Given the description of an element on the screen output the (x, y) to click on. 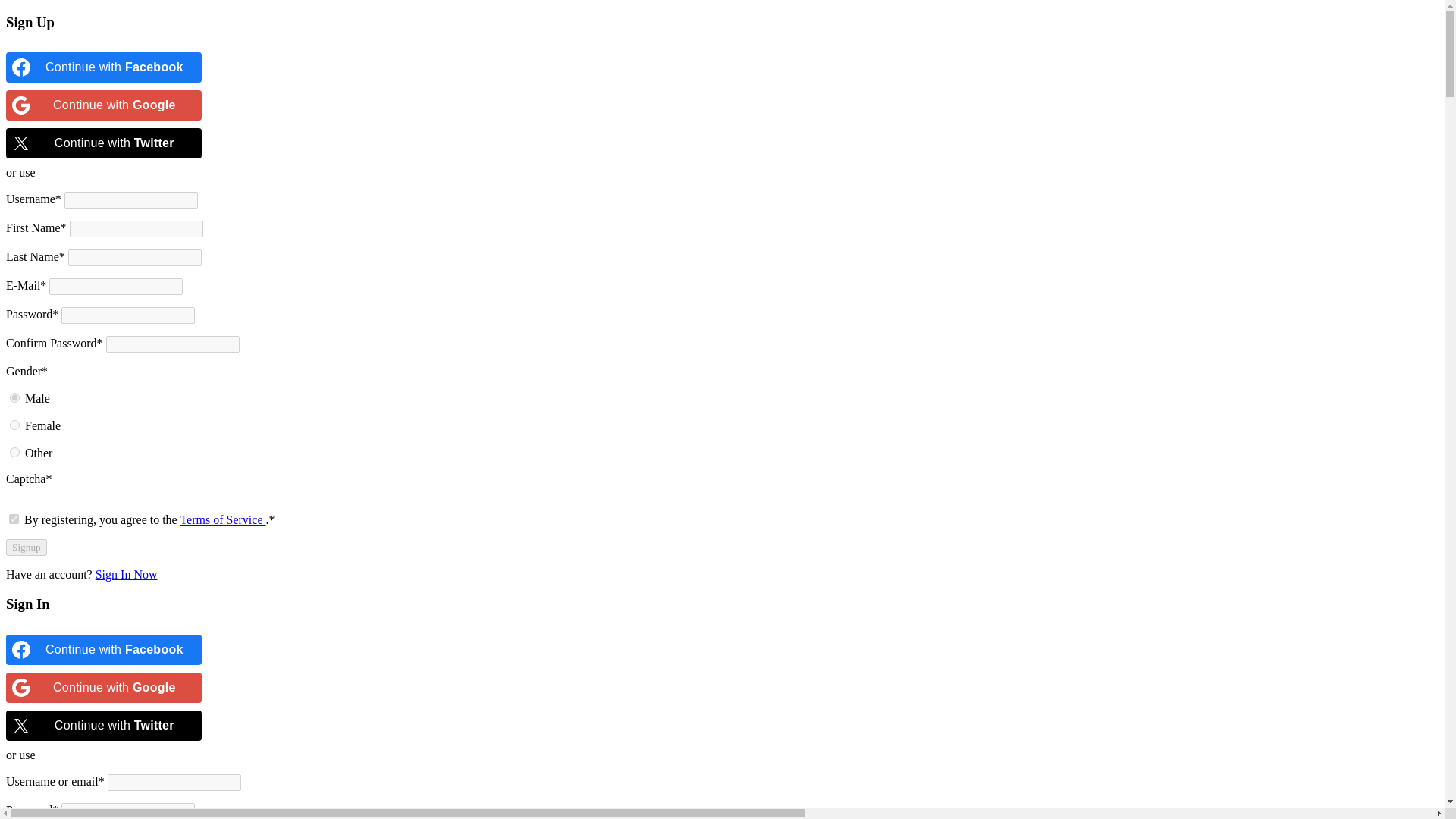
Continue with Google (103, 687)
2 (15, 424)
3 (15, 452)
Continue with Google (103, 105)
Signup (25, 547)
on (13, 519)
Continue with Twitter (103, 142)
Continue with Facebook (103, 67)
Sign In Now (126, 574)
Continue with Twitter (103, 725)
